Given the description of an element on the screen output the (x, y) to click on. 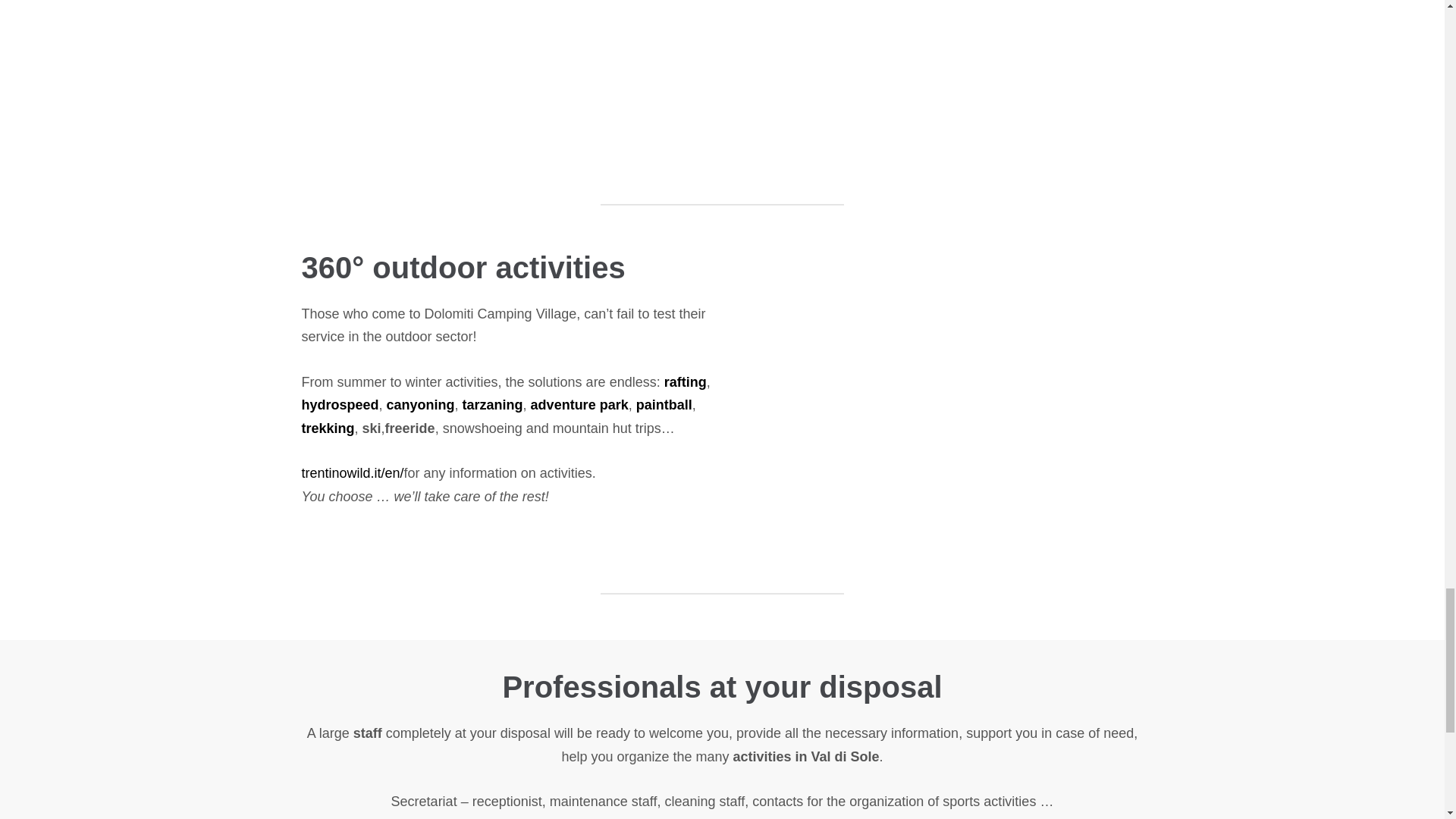
paintball (664, 404)
canyoning (420, 404)
tarzaning (492, 404)
adventure park (579, 404)
trekking (328, 427)
hydrospeed (339, 404)
rafting (684, 381)
